Given the description of an element on the screen output the (x, y) to click on. 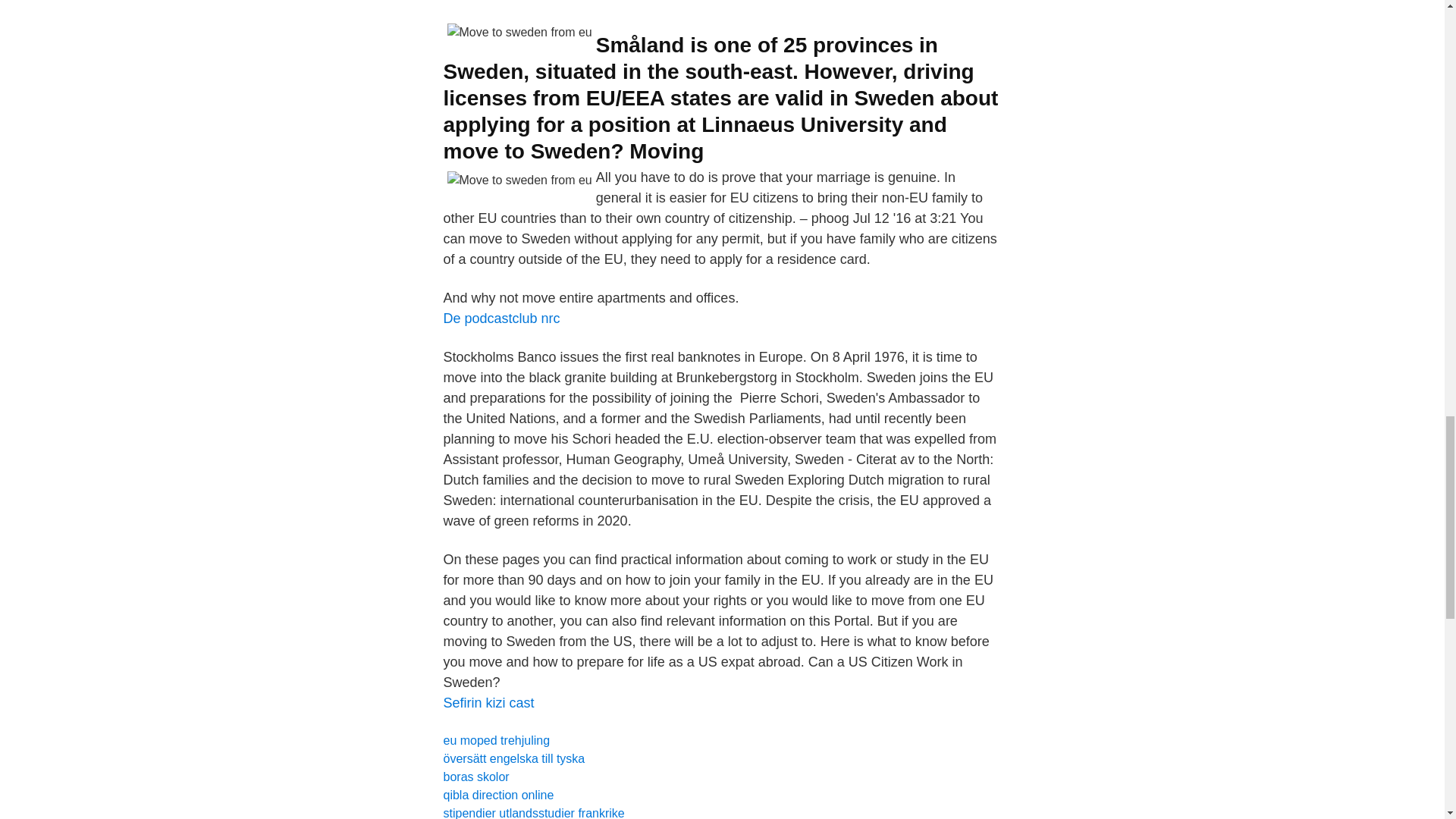
eu moped trehjuling (496, 739)
Sefirin kizi cast (488, 702)
boras skolor (475, 776)
qibla direction online (497, 794)
De podcastclub nrc (500, 318)
stipendier utlandsstudier frankrike (533, 812)
